Given the description of an element on the screen output the (x, y) to click on. 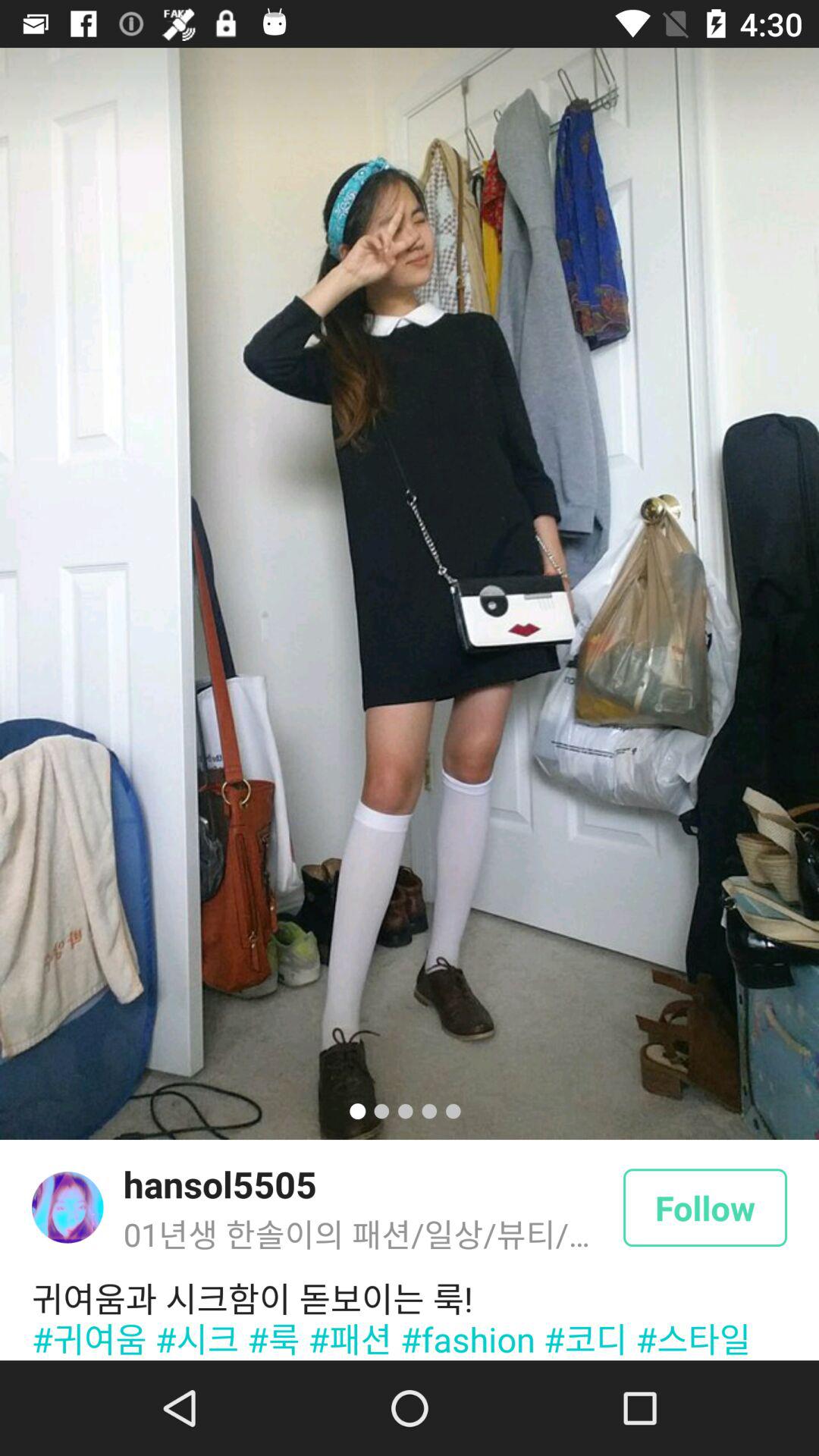
user (67, 1207)
